Given the description of an element on the screen output the (x, y) to click on. 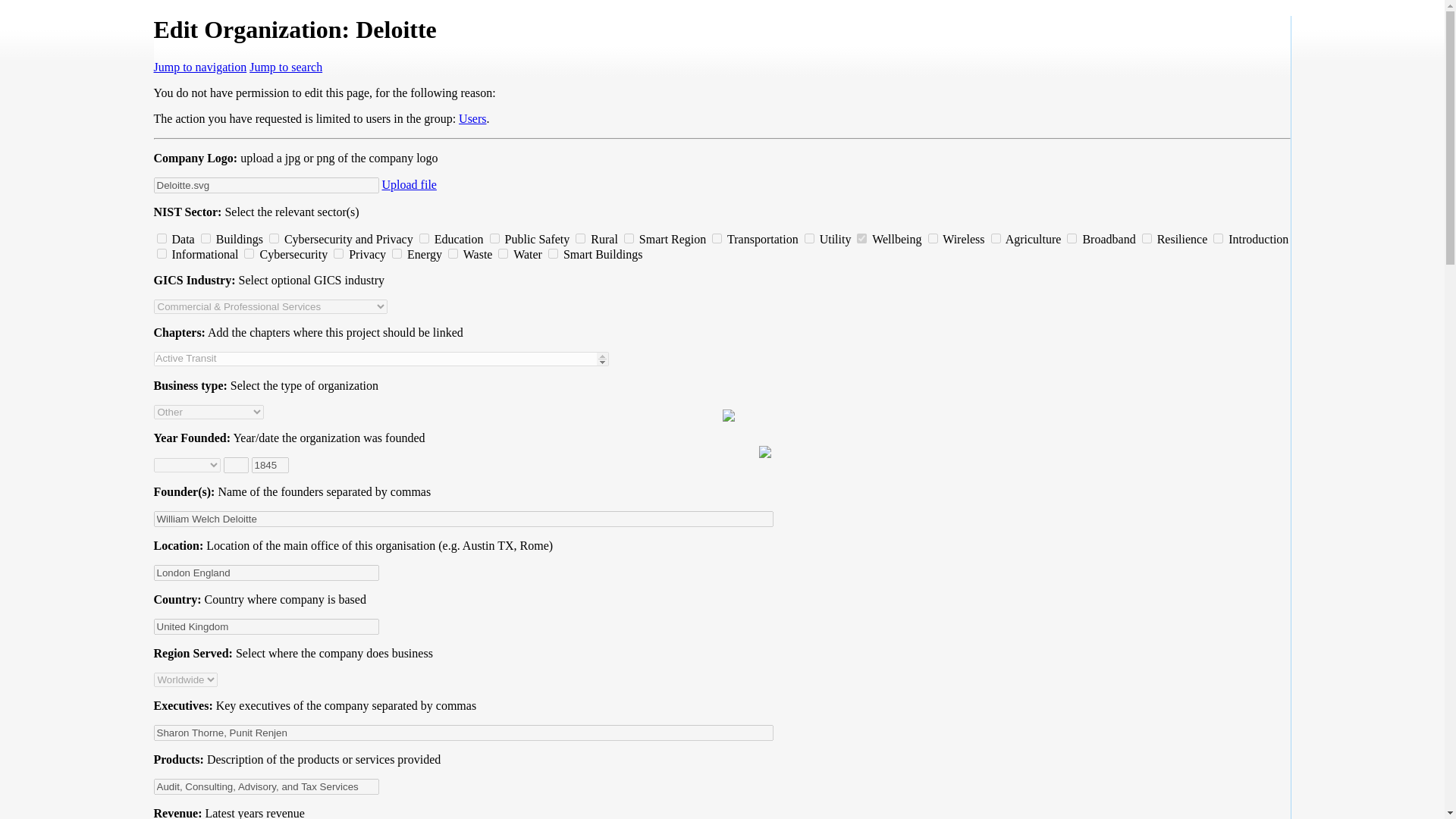
London England (265, 572)
Wireless (932, 238)
Cybersecurity and Privacy (274, 238)
Deloitte.svg (265, 185)
Public Safety (494, 238)
Sharon Thorne, Punit Renjen (462, 732)
Utility (809, 238)
Jump to search (284, 66)
Cybersecurity (248, 253)
Upload file (408, 184)
Wellbeing (861, 238)
Informational (160, 253)
Data (160, 238)
Transportation (716, 238)
Privacy (338, 253)
